Given the description of an element on the screen output the (x, y) to click on. 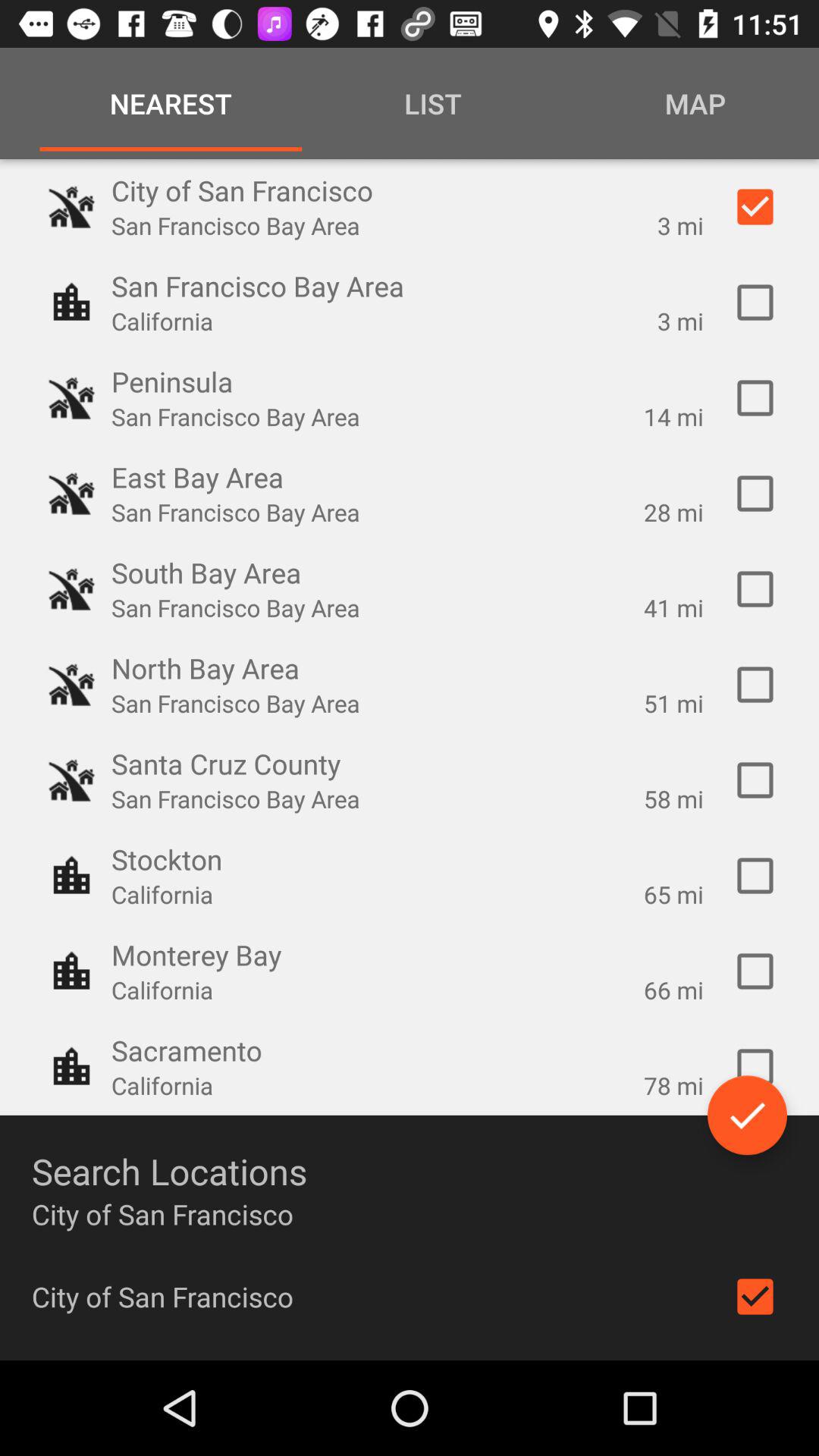
confirm north bay option (755, 684)
